Given the description of an element on the screen output the (x, y) to click on. 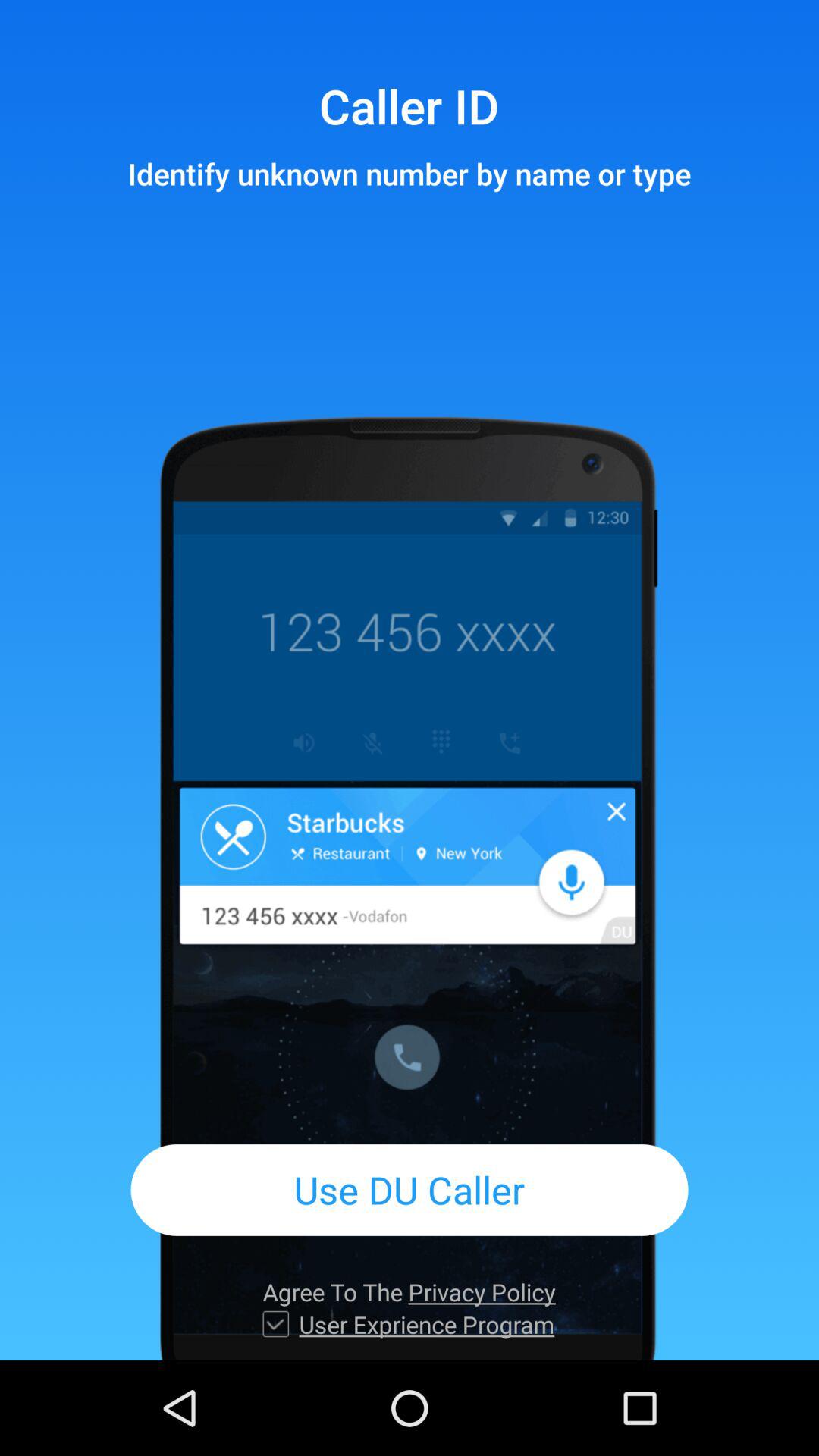
turn off icon below identify unknown number item (409, 1189)
